Given the description of an element on the screen output the (x, y) to click on. 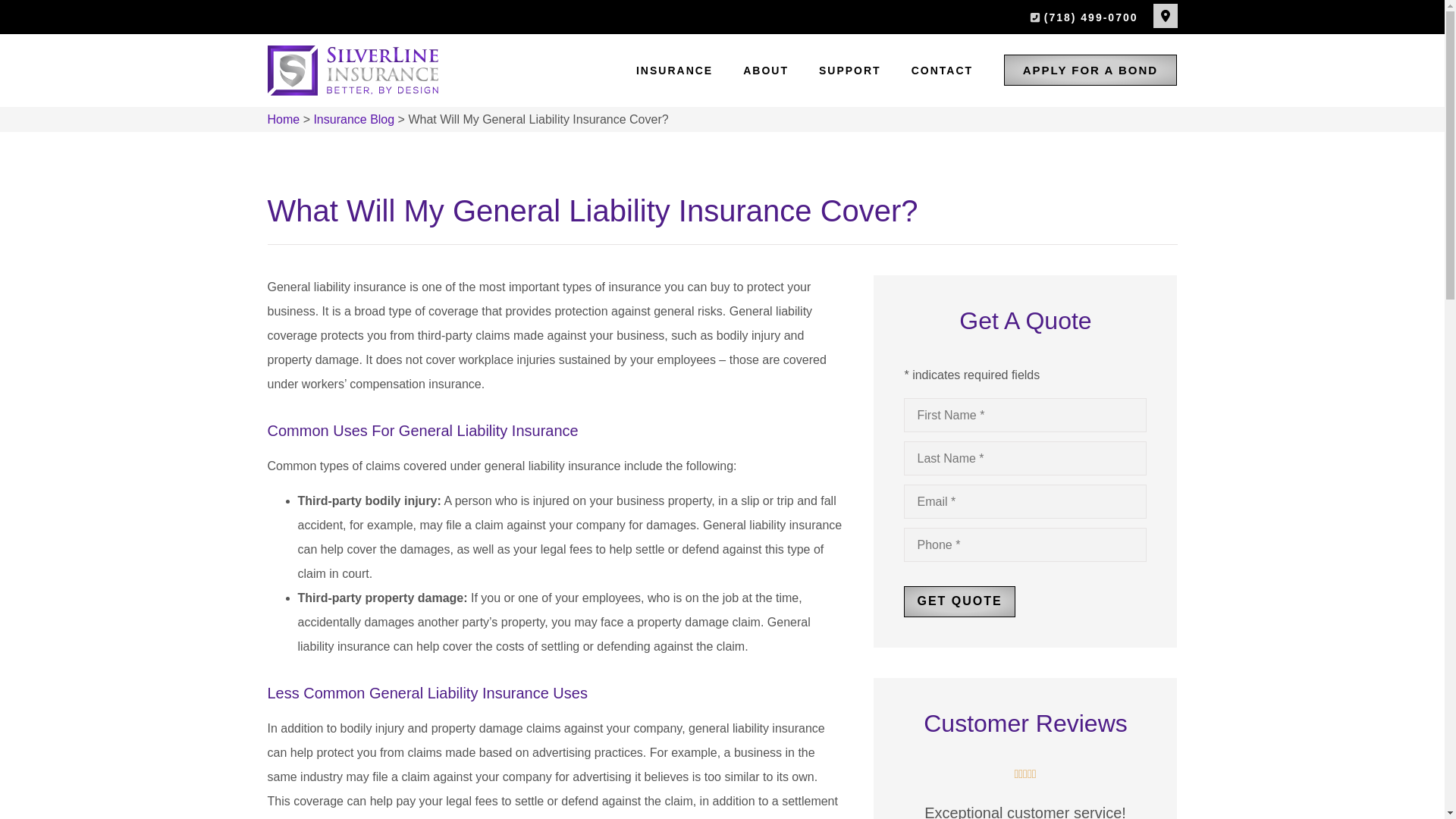
ABOUT (765, 70)
CONTACT (942, 70)
Get Quote (959, 601)
SUPPORT (849, 70)
Silverline-Insurance-Agency-logo (352, 70)
INSURANCE (674, 70)
